Given the description of an element on the screen output the (x, y) to click on. 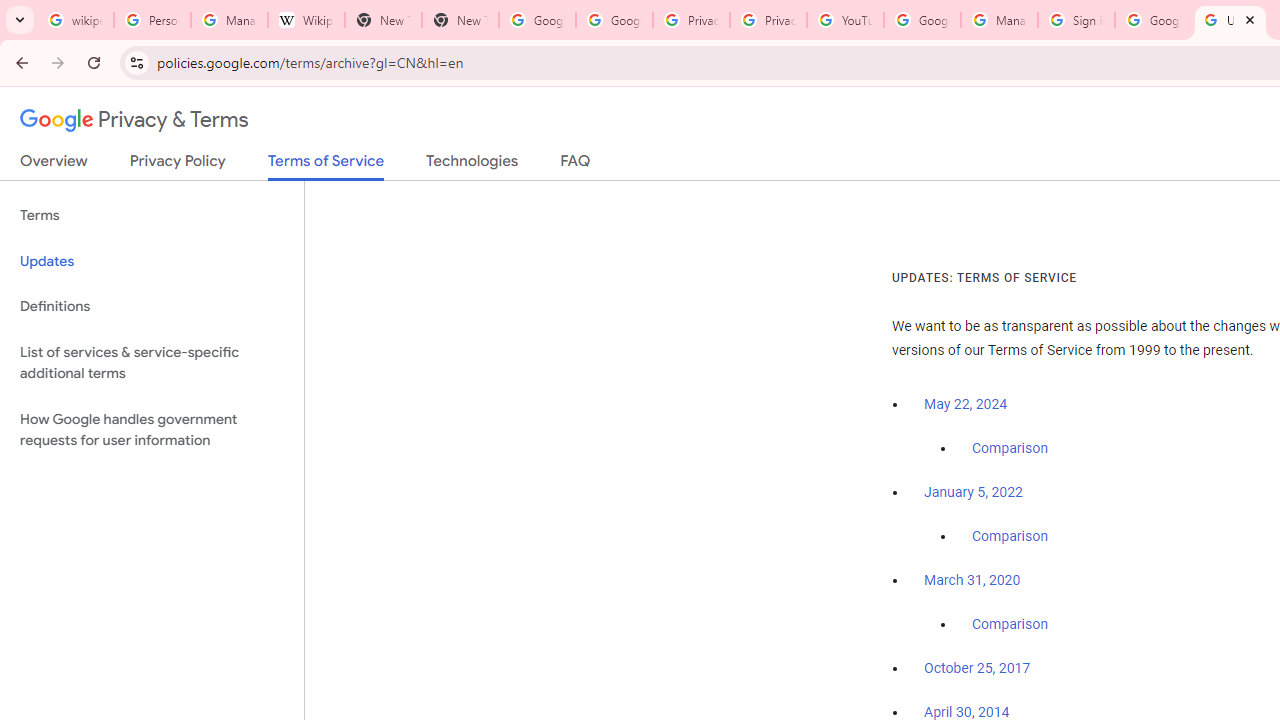
FAQ (575, 165)
Personalization & Google Search results - Google Search Help (151, 20)
Sign in - Google Accounts (1076, 20)
Google Drive: Sign-in (614, 20)
Definitions (152, 306)
Comparison (1009, 625)
